Given the description of an element on the screen output the (x, y) to click on. 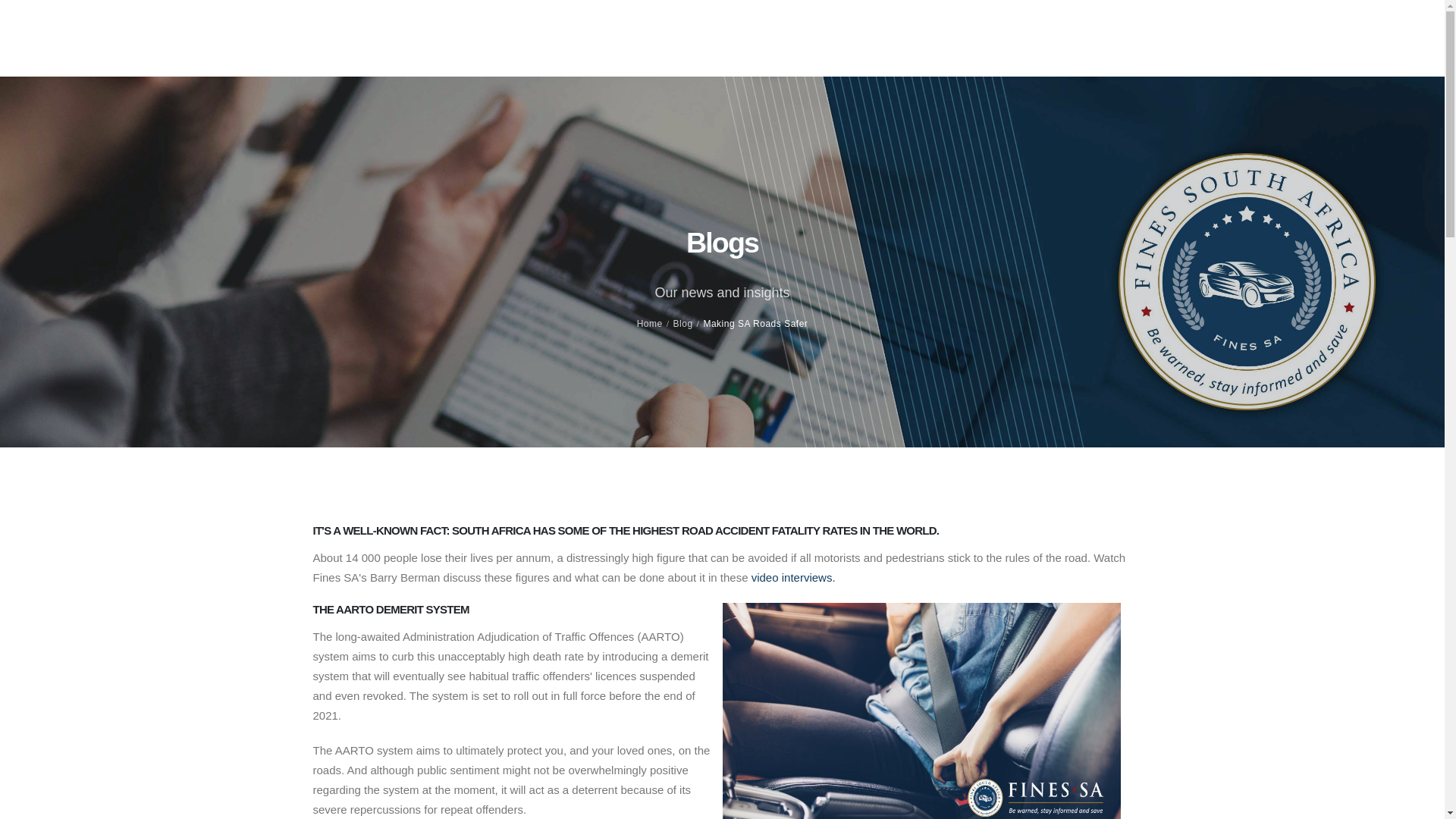
video interviews. (793, 576)
Home (649, 323)
Blog (682, 323)
Making SA Roads Safer (755, 323)
